Given the description of an element on the screen output the (x, y) to click on. 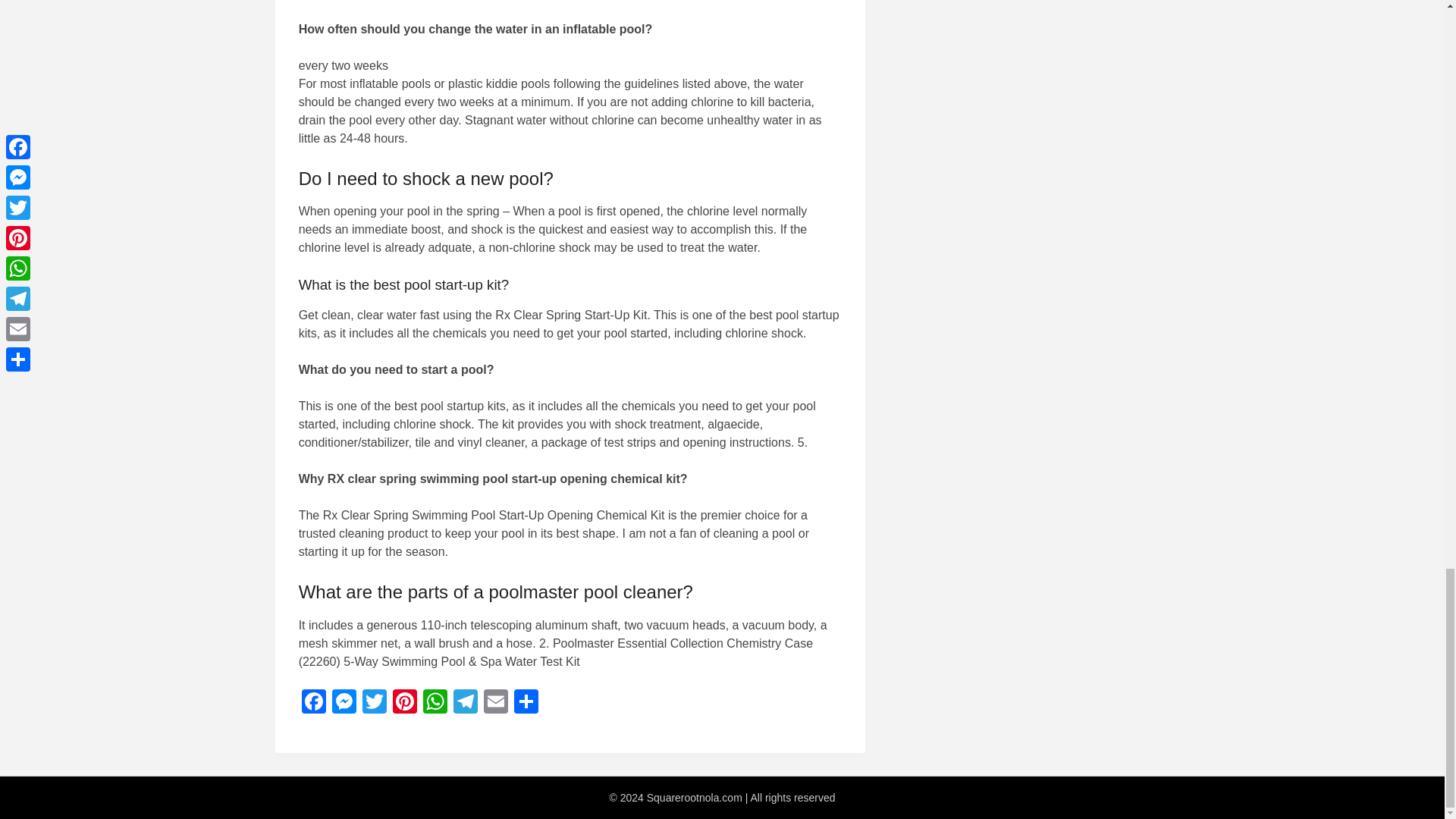
Telegram (464, 703)
Pinterest (405, 703)
Twitter (374, 703)
Facebook (313, 703)
WhatsApp (434, 703)
Facebook (313, 703)
Telegram (464, 703)
Email (495, 703)
Messenger (344, 703)
Messenger (344, 703)
Share (526, 703)
Pinterest (405, 703)
Email (495, 703)
Twitter (374, 703)
WhatsApp (434, 703)
